Given the description of an element on the screen output the (x, y) to click on. 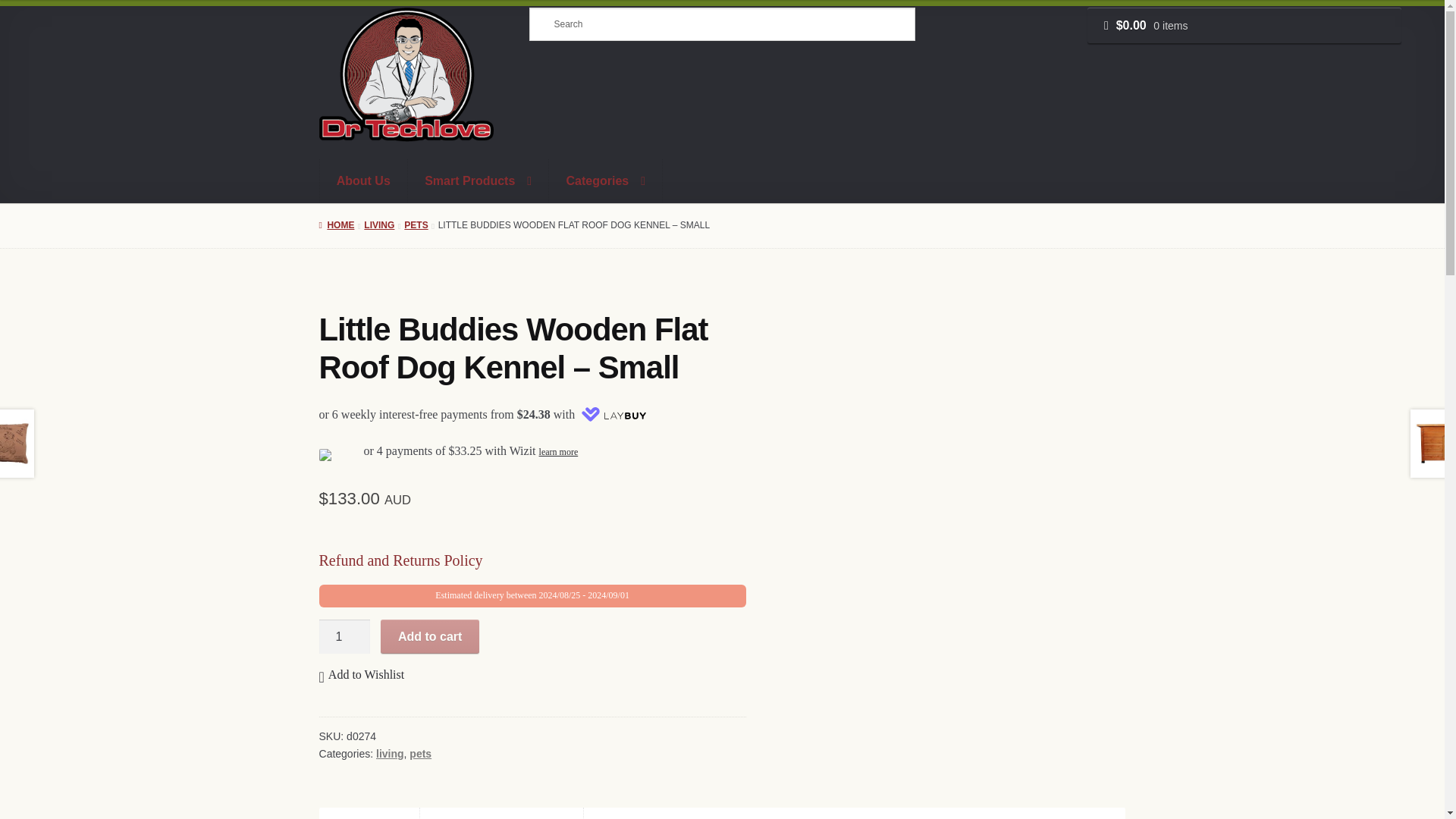
1 (344, 636)
Smart Products (477, 180)
About Us (362, 180)
Categories (605, 180)
View your shopping cart (1243, 25)
